Given the description of an element on the screen output the (x, y) to click on. 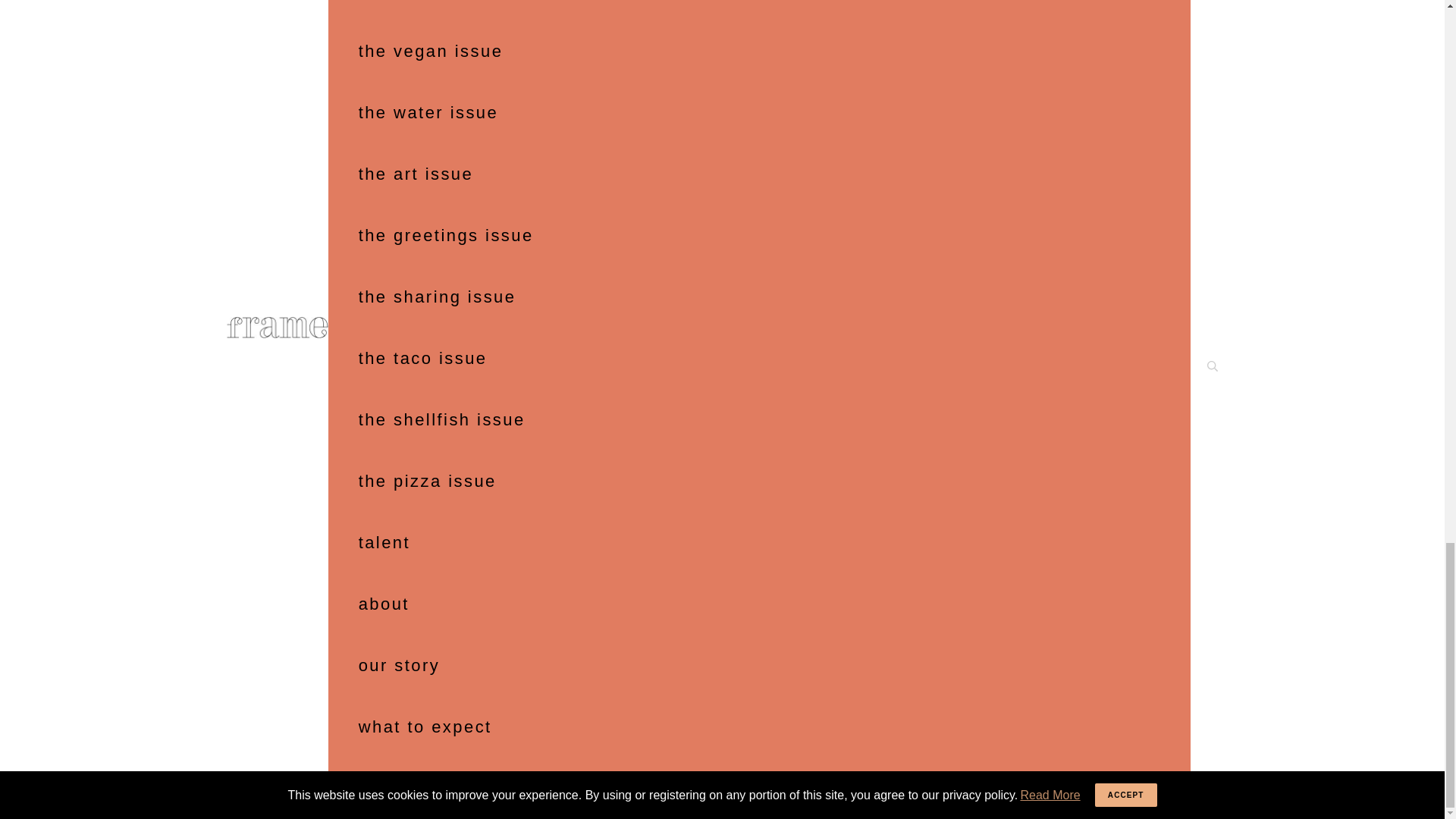
Join (721, 521)
